Given the description of an element on the screen output the (x, y) to click on. 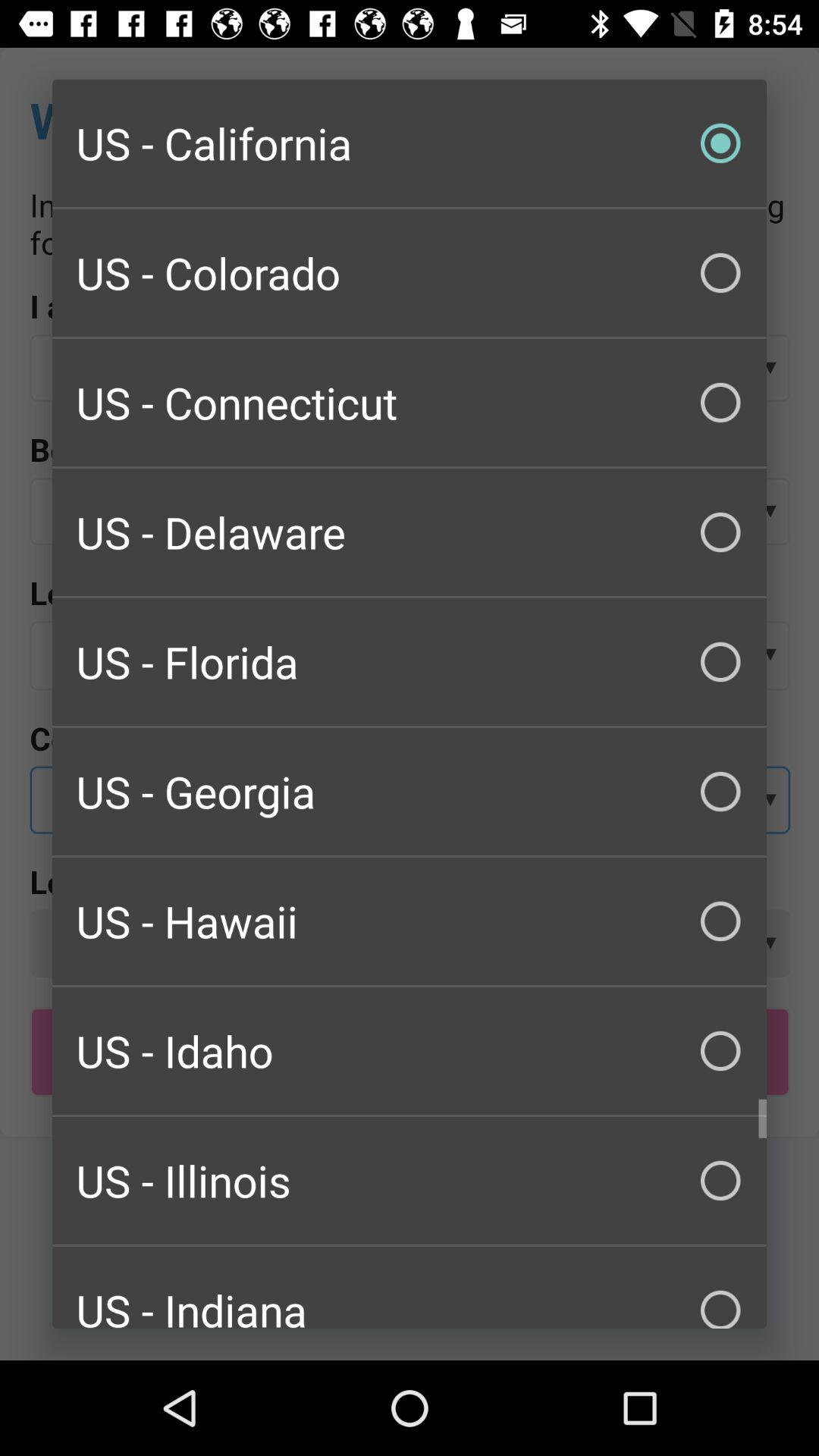
press the checkbox above us - idaho (409, 921)
